Given the description of an element on the screen output the (x, y) to click on. 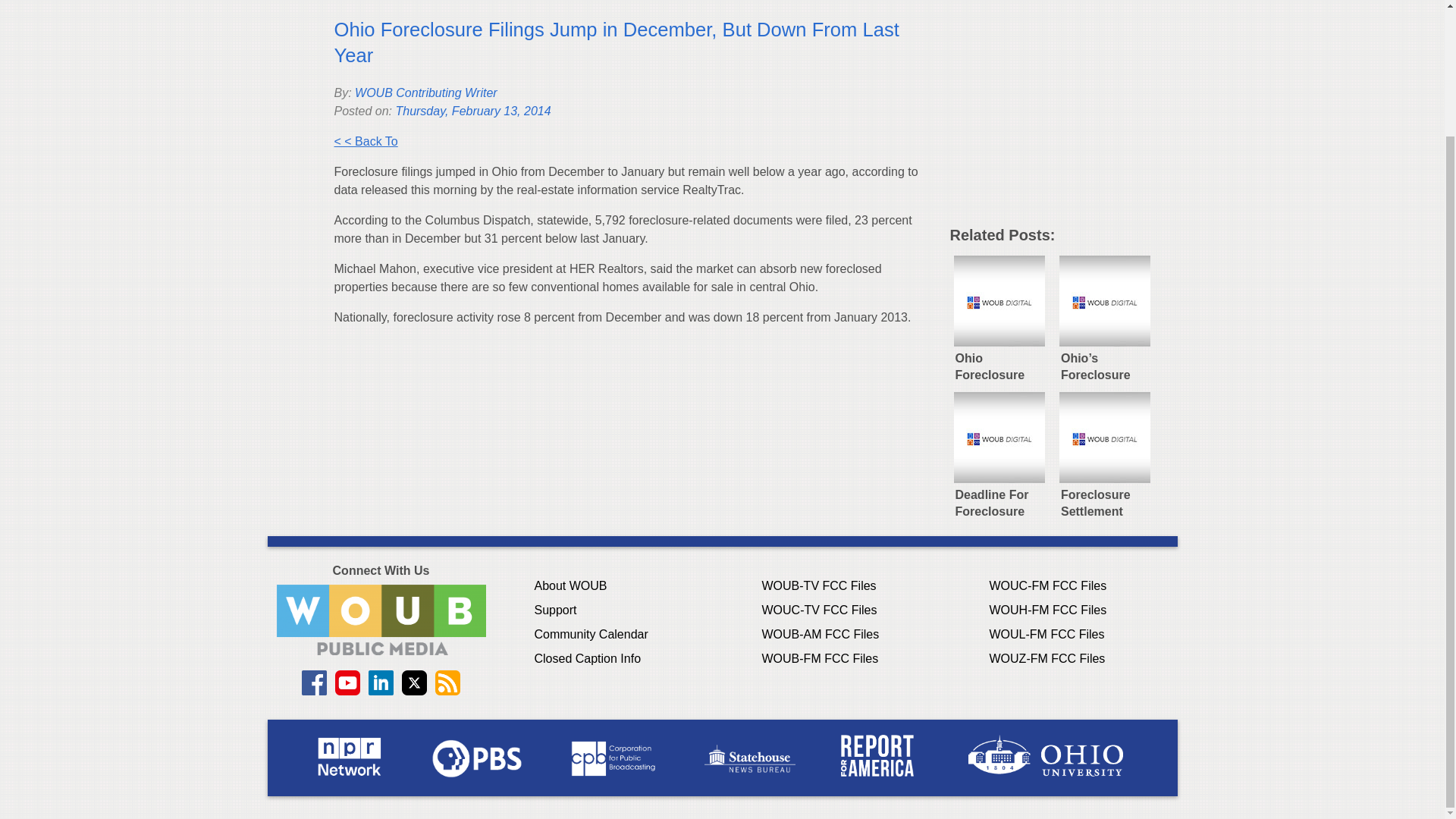
Thursday, February 13, 2014 (472, 110)
WOUB Contributing Writer (426, 92)
Contact WOUB (380, 619)
3rd party ad content (1062, 118)
